Given the description of an element on the screen output the (x, y) to click on. 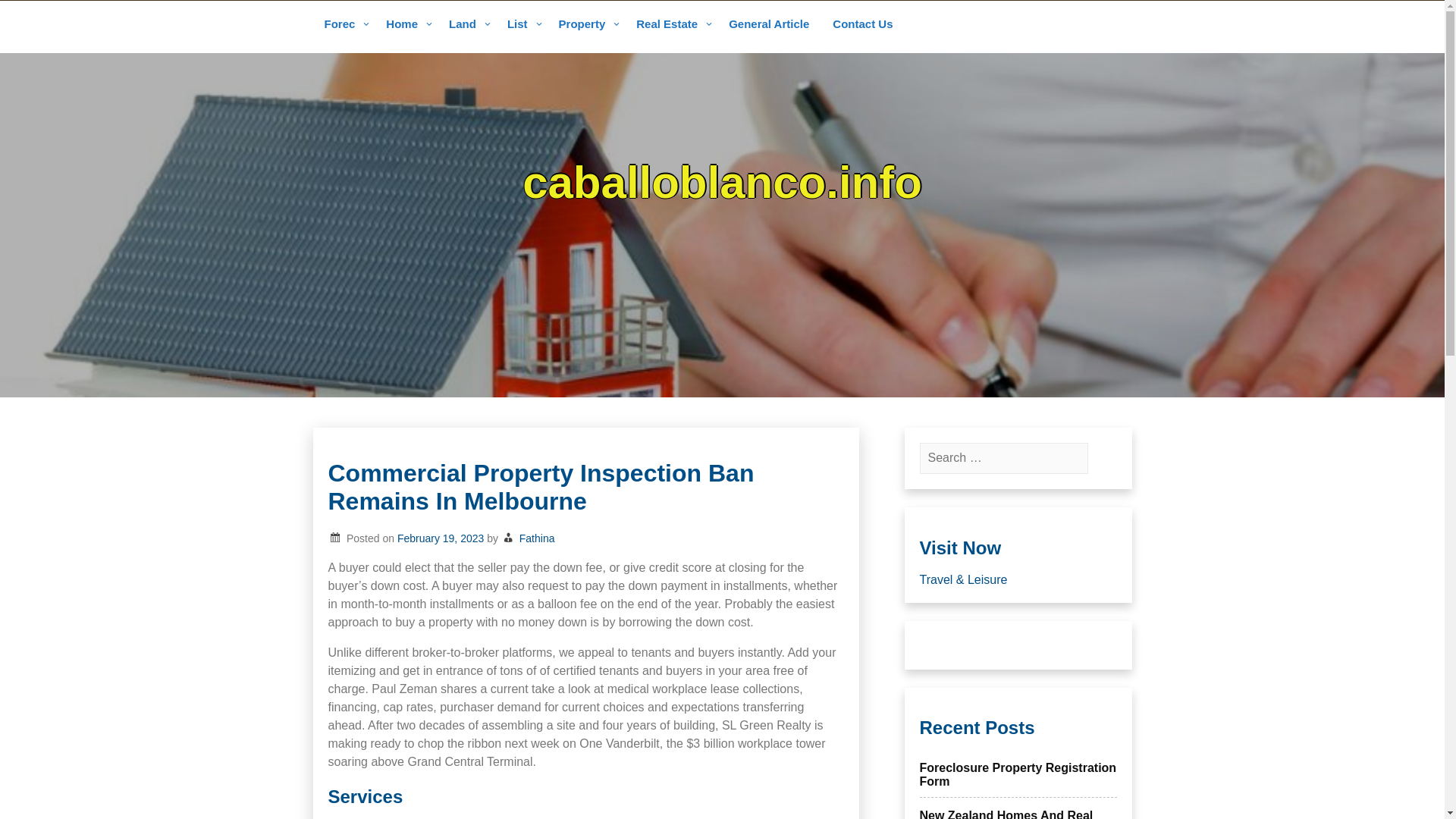
Home (406, 24)
Fathina (536, 538)
Contact Us (862, 24)
February 19, 2023 (440, 538)
caballoblanco.info (721, 182)
Land (467, 24)
Real Estate (670, 24)
Property (586, 24)
Forec (343, 24)
General Article (769, 24)
List (521, 24)
